Given the description of an element on the screen output the (x, y) to click on. 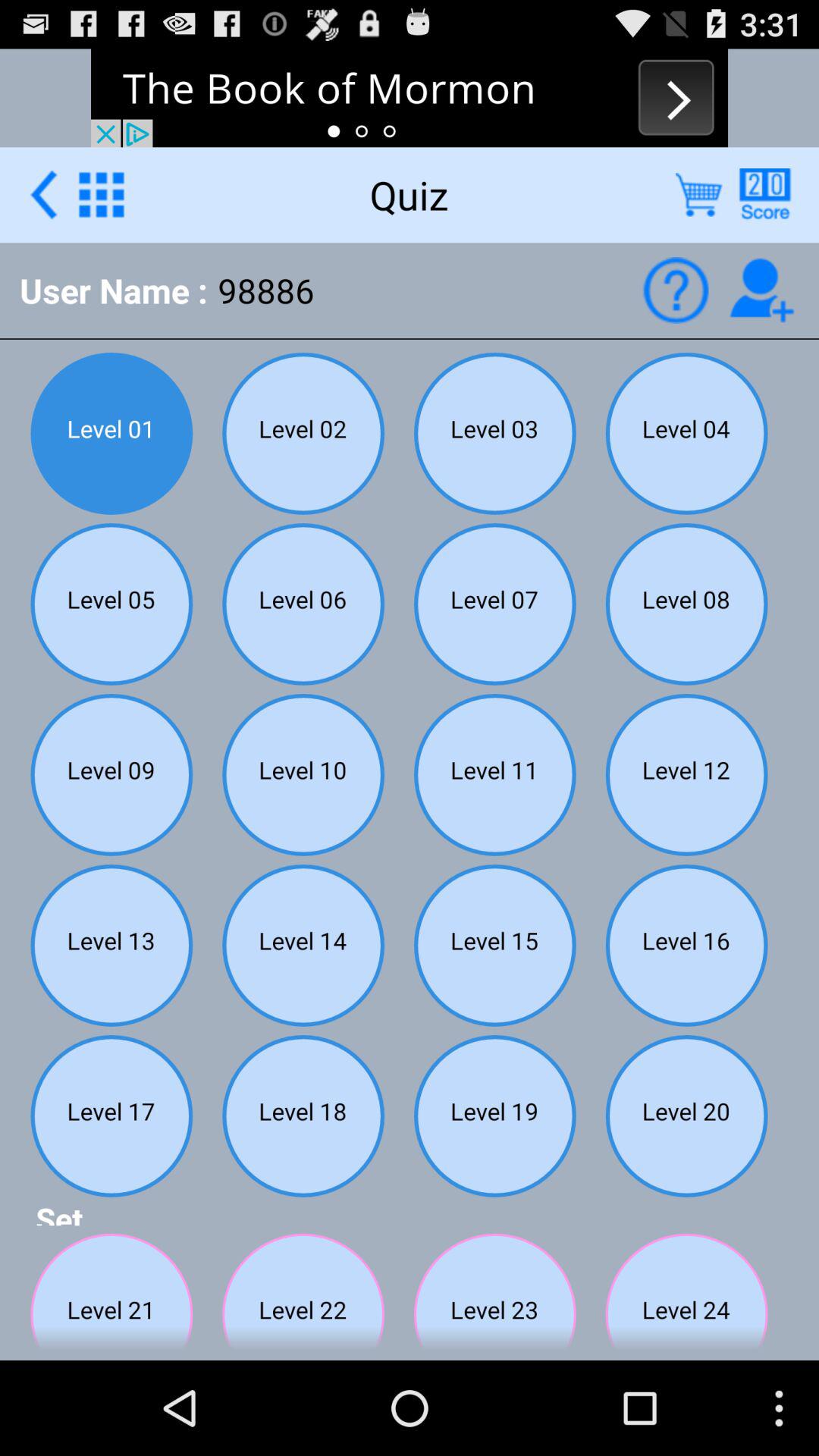
go to shopping cart (698, 194)
